Given the description of an element on the screen output the (x, y) to click on. 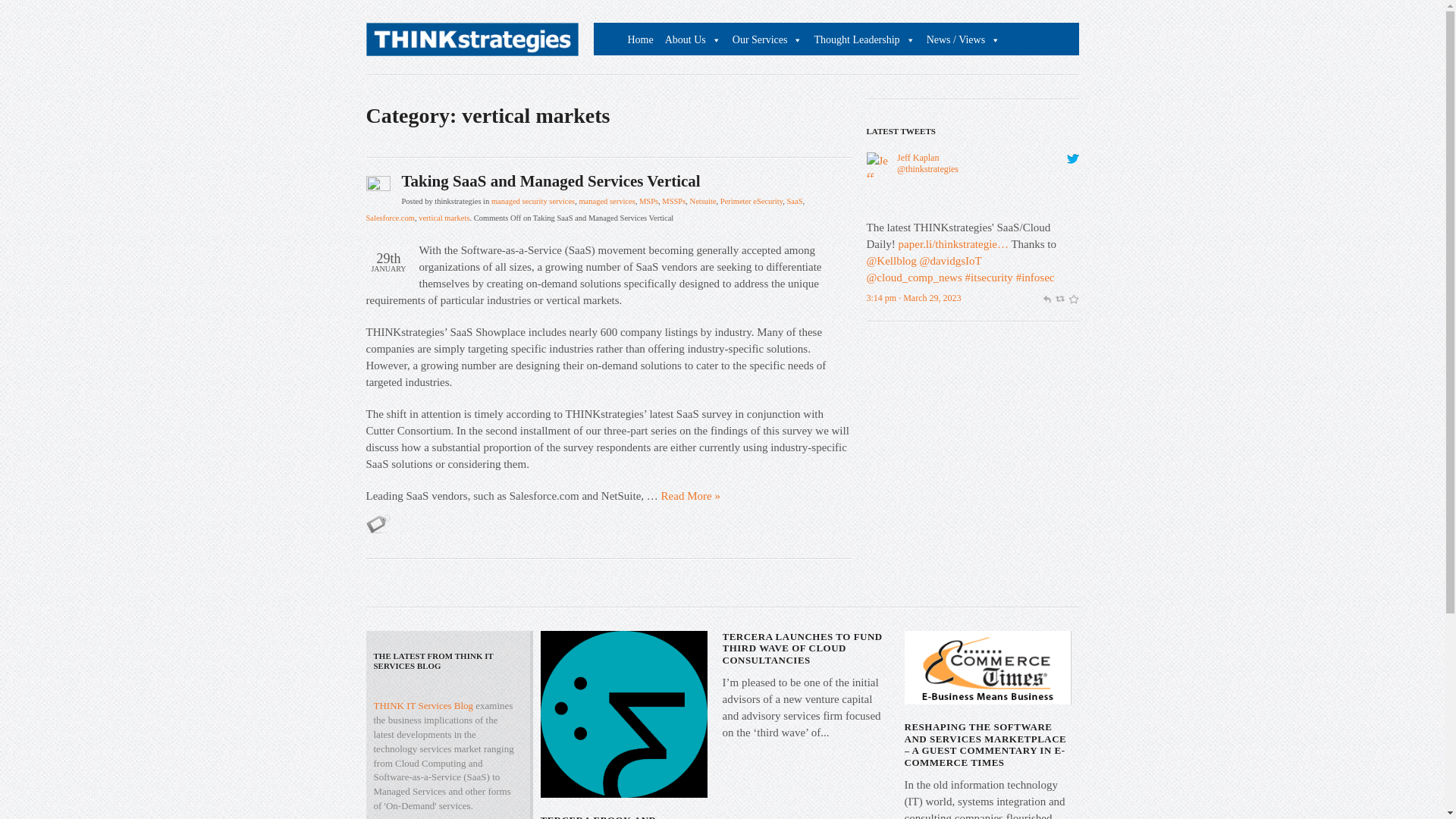
Home (639, 40)
About Us (691, 40)
Perimeter eSecurity (751, 201)
SaaS (794, 201)
managed services (606, 201)
MSPs (648, 201)
Dave Kellogg (890, 260)
Cloud Tech News (913, 277)
THINK STRATEGIES (471, 42)
Thought Leadership (862, 40)
Jeff Kaplan (878, 210)
vertical markets (443, 217)
MSSPs (673, 201)
Netsuite (703, 201)
managed security services (533, 201)
